Given the description of an element on the screen output the (x, y) to click on. 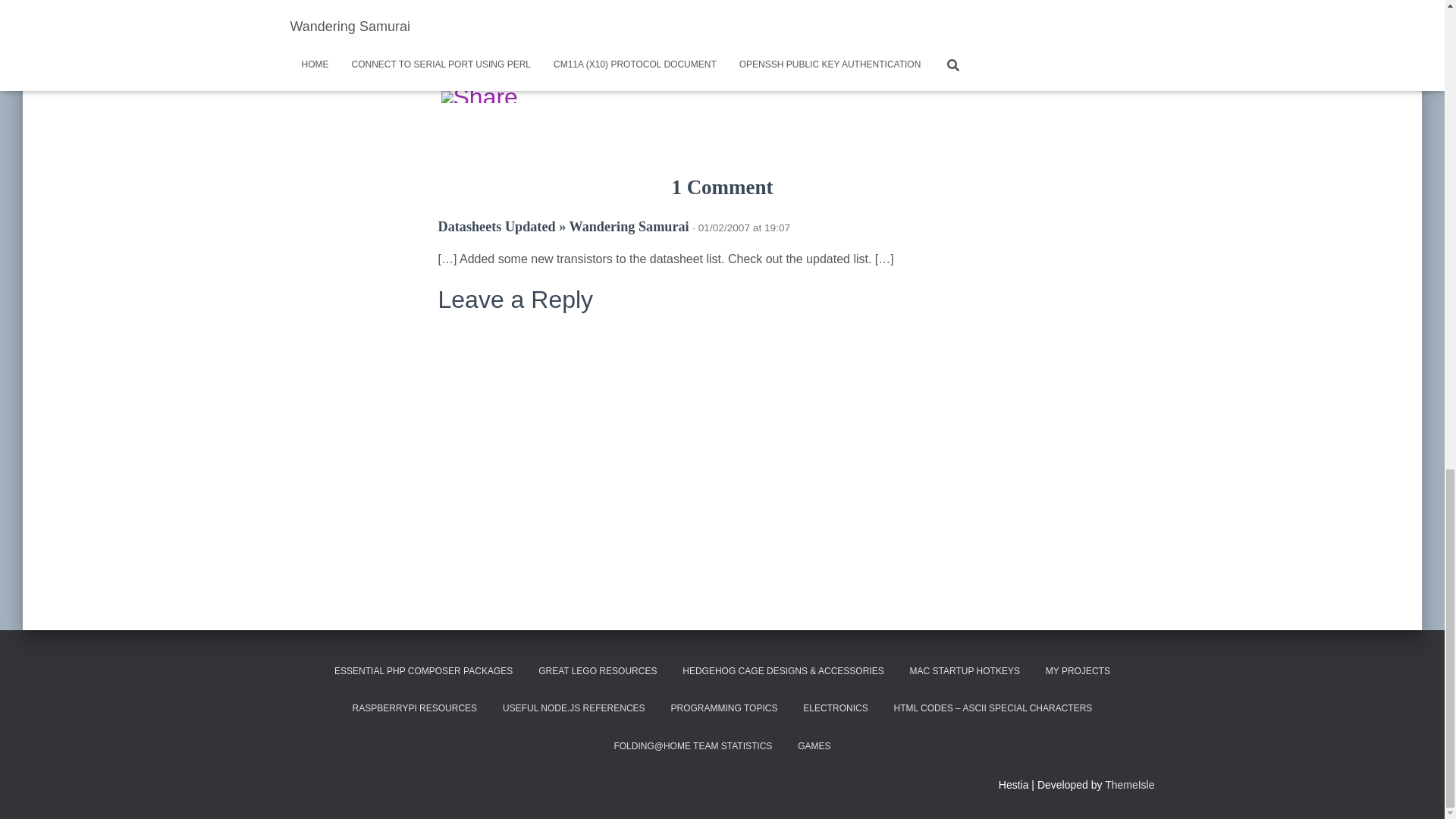
ELECTRONICS (835, 708)
GAMES (813, 746)
GREAT LEGO RESOURCES (597, 671)
MY PROJECTS (1077, 671)
ThemeIsle (1129, 784)
RASPBERRYPI RESOURCES (414, 708)
MAC STARTUP HOTKEYS (964, 671)
PROGRAMMING TOPICS (724, 708)
ESSENTIAL PHP COMPOSER PACKAGES (423, 671)
USEFUL NODE.JS REFERENCES (574, 708)
